Given the description of an element on the screen output the (x, y) to click on. 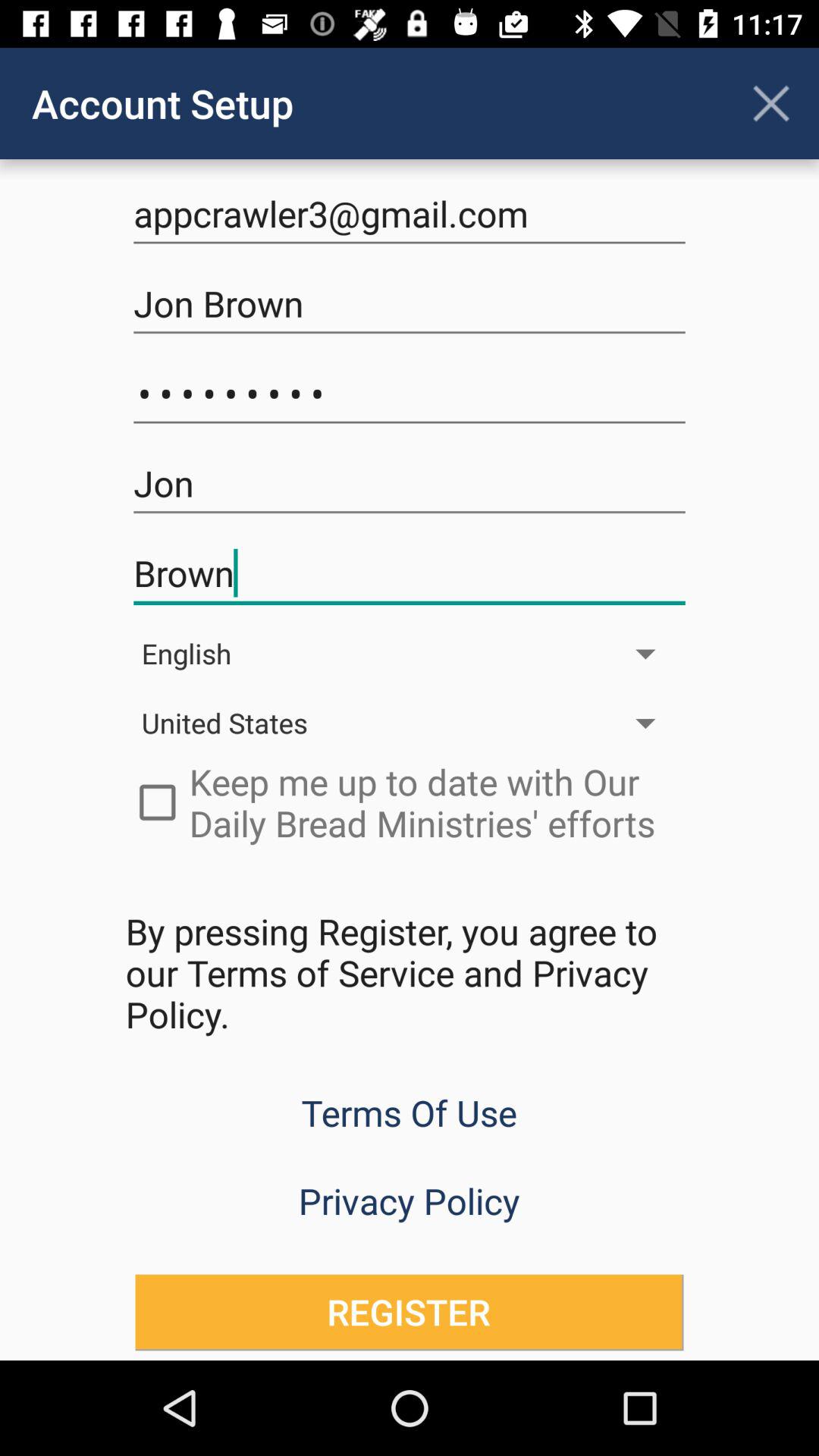
click on english dropdown (409, 653)
click on jon brown (409, 304)
click on privacy policy (409, 1200)
click on the field below united states (409, 802)
click on the united states field (409, 722)
select the text field appcrawler3gmailcom (409, 214)
